Given the description of an element on the screen output the (x, y) to click on. 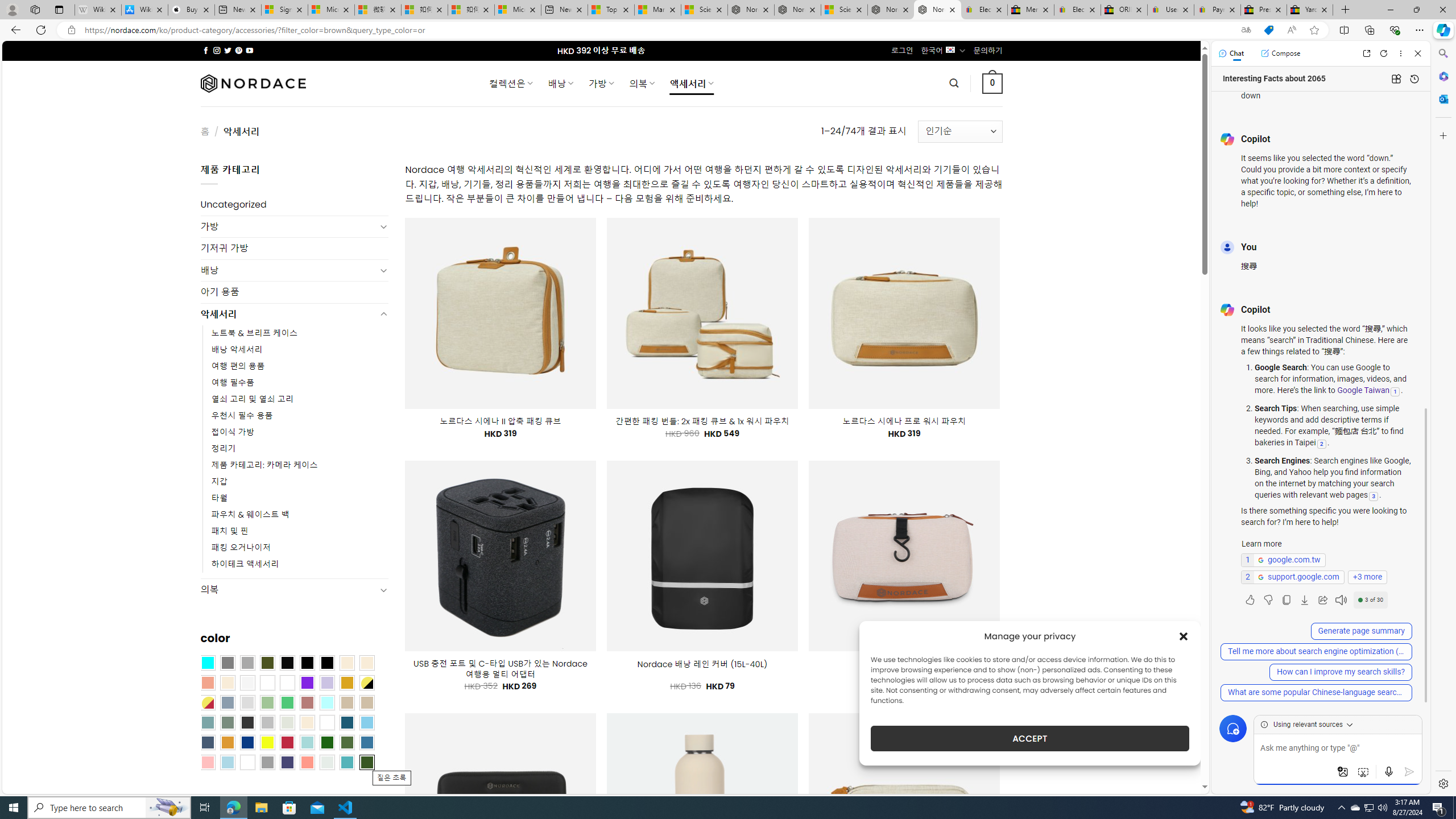
Press Room - eBay Inc. (1263, 9)
Kelp (286, 681)
